Given the description of an element on the screen output the (x, y) to click on. 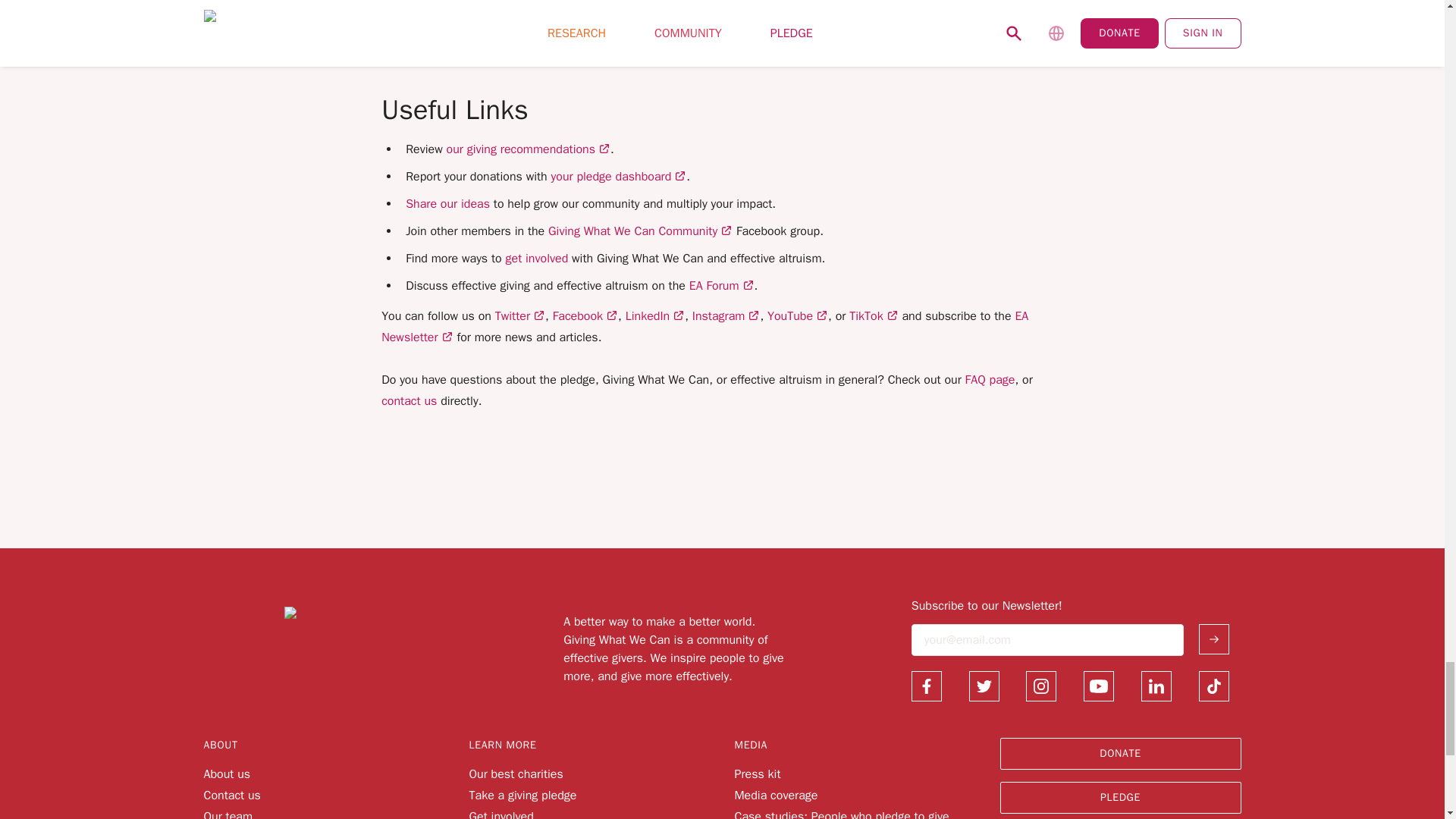
Submit (1213, 639)
